Given the description of an element on the screen output the (x, y) to click on. 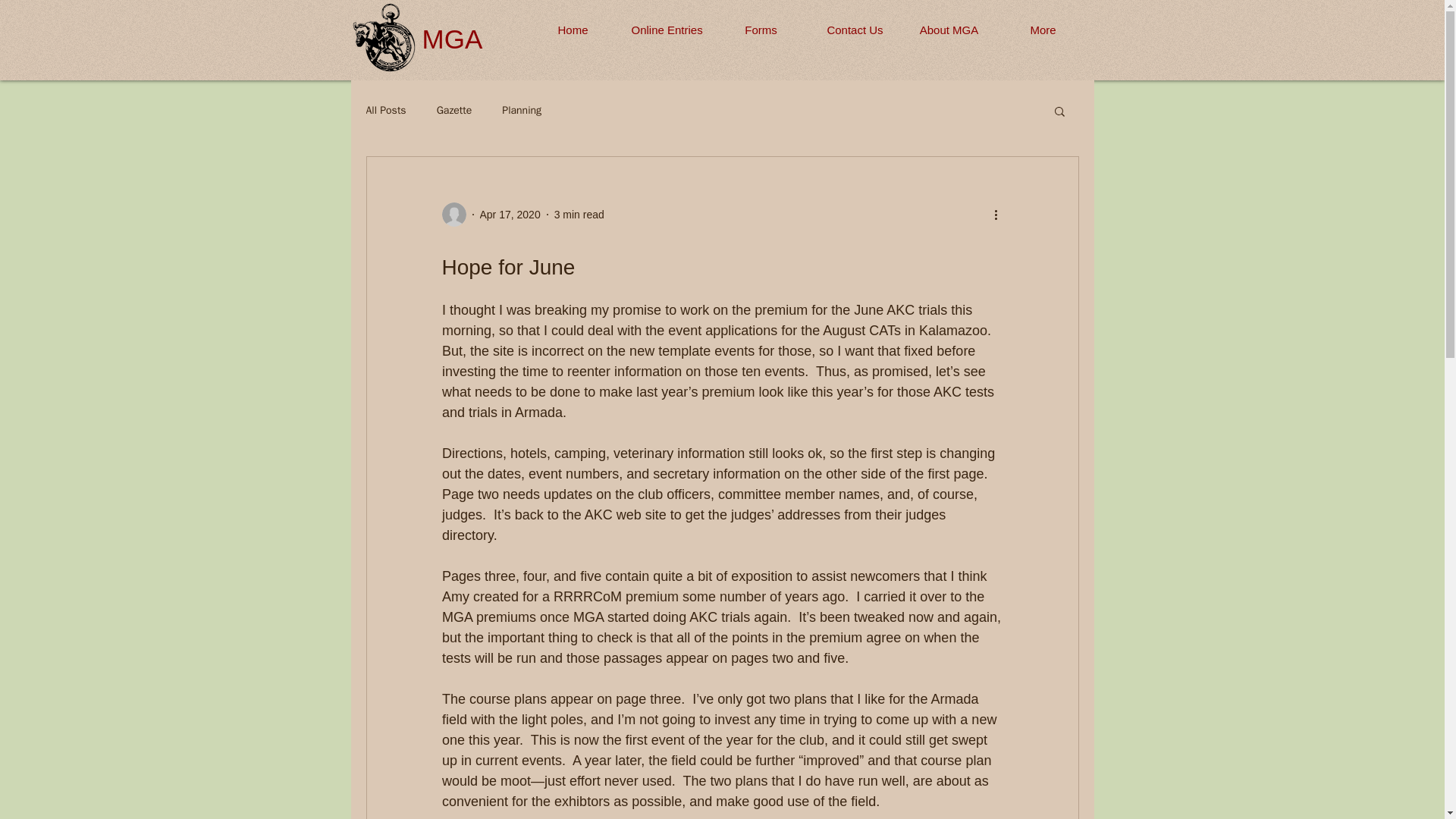
All Posts (385, 110)
About MGA (948, 29)
Home (572, 29)
Online Entries (667, 29)
MGA Logo transparent.png (384, 36)
Planning (521, 110)
3 min read (579, 214)
Forms (761, 29)
Gazette (453, 110)
Contact Us (855, 29)
Apr 17, 2020 (509, 214)
